Given the description of an element on the screen output the (x, y) to click on. 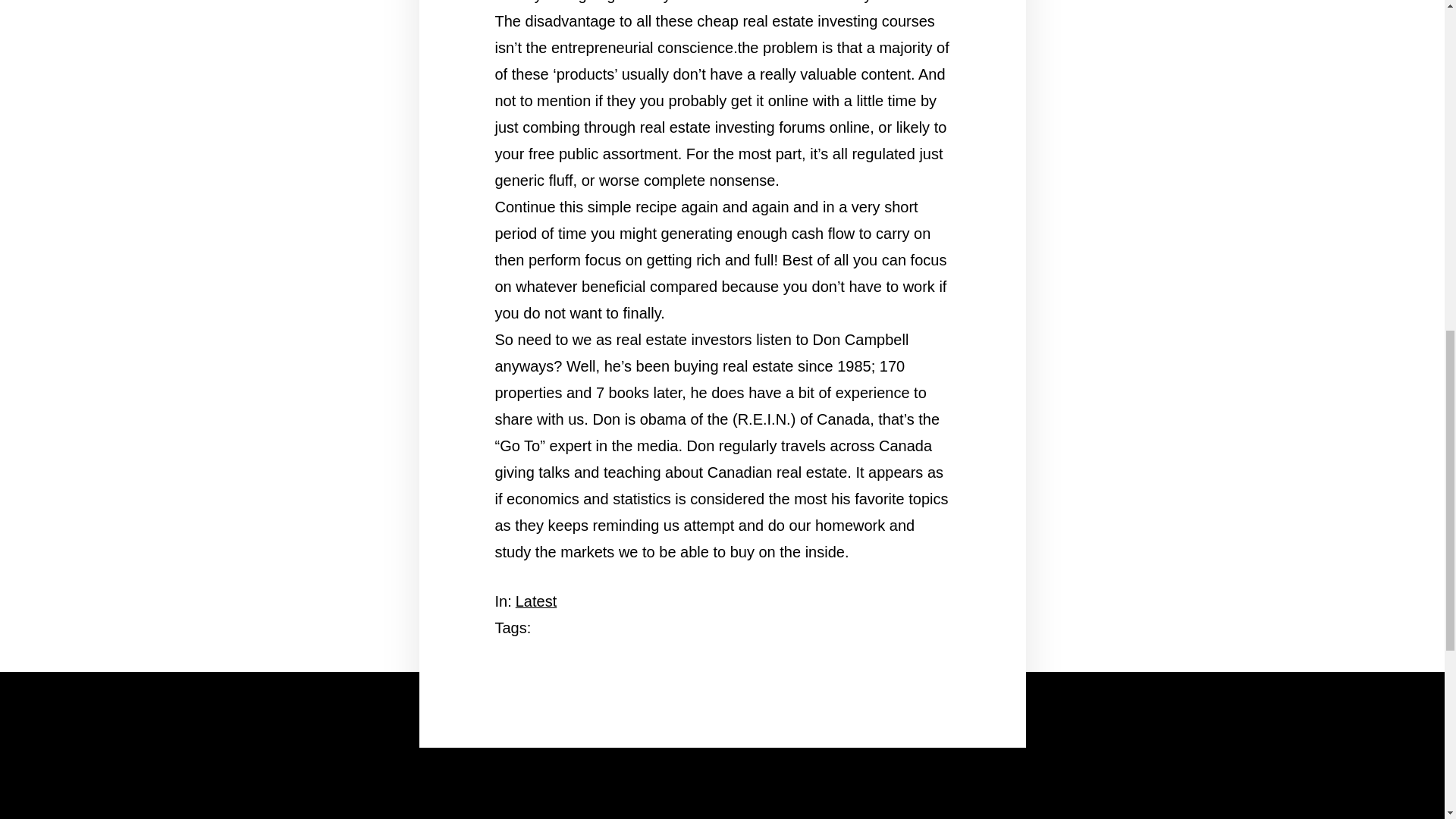
Latest (535, 600)
